Given the description of an element on the screen output the (x, y) to click on. 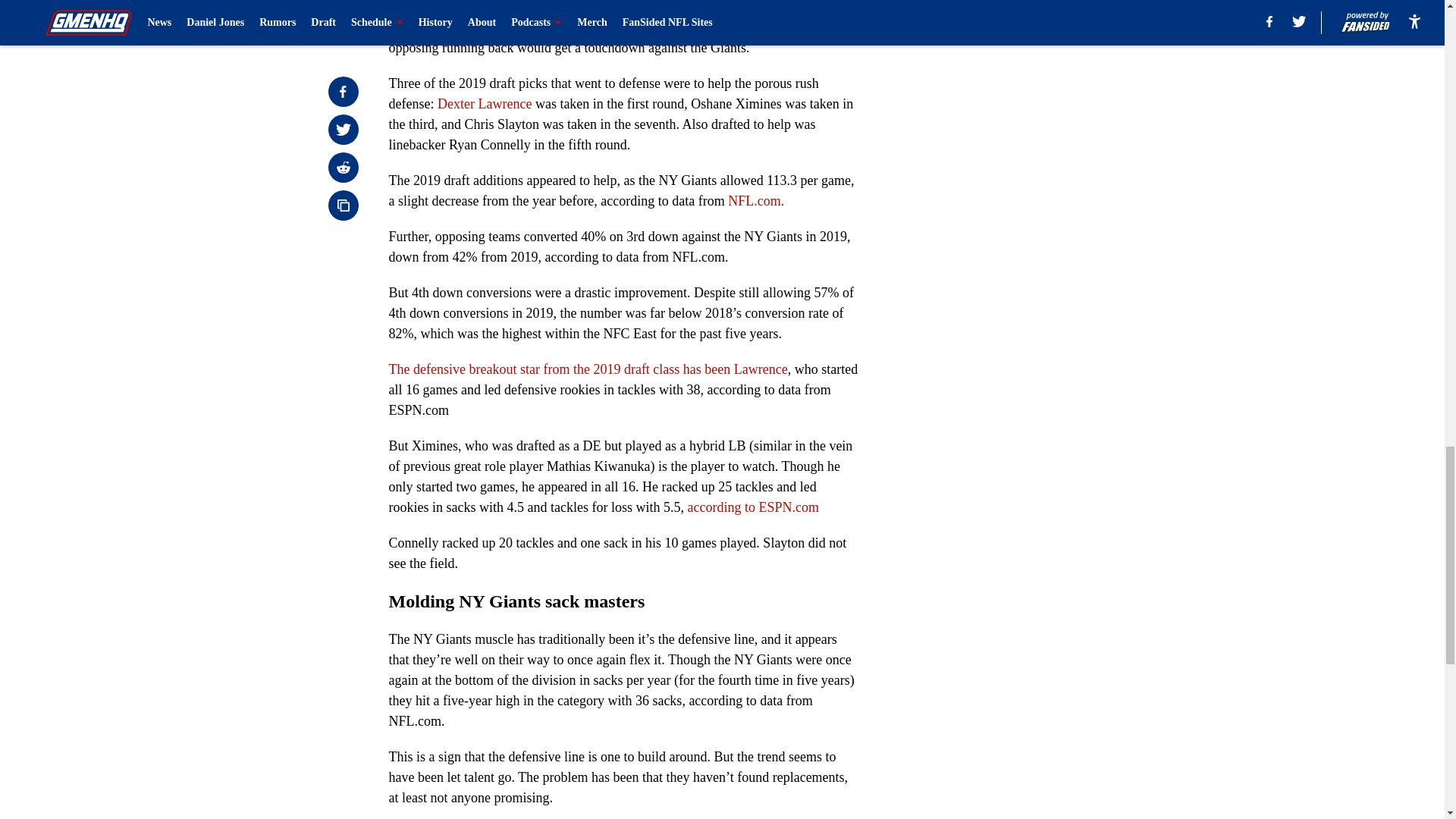
NFL.com. (756, 200)
Dexter Lawrence (484, 103)
according to ESPN.com (752, 507)
